Given the description of an element on the screen output the (x, y) to click on. 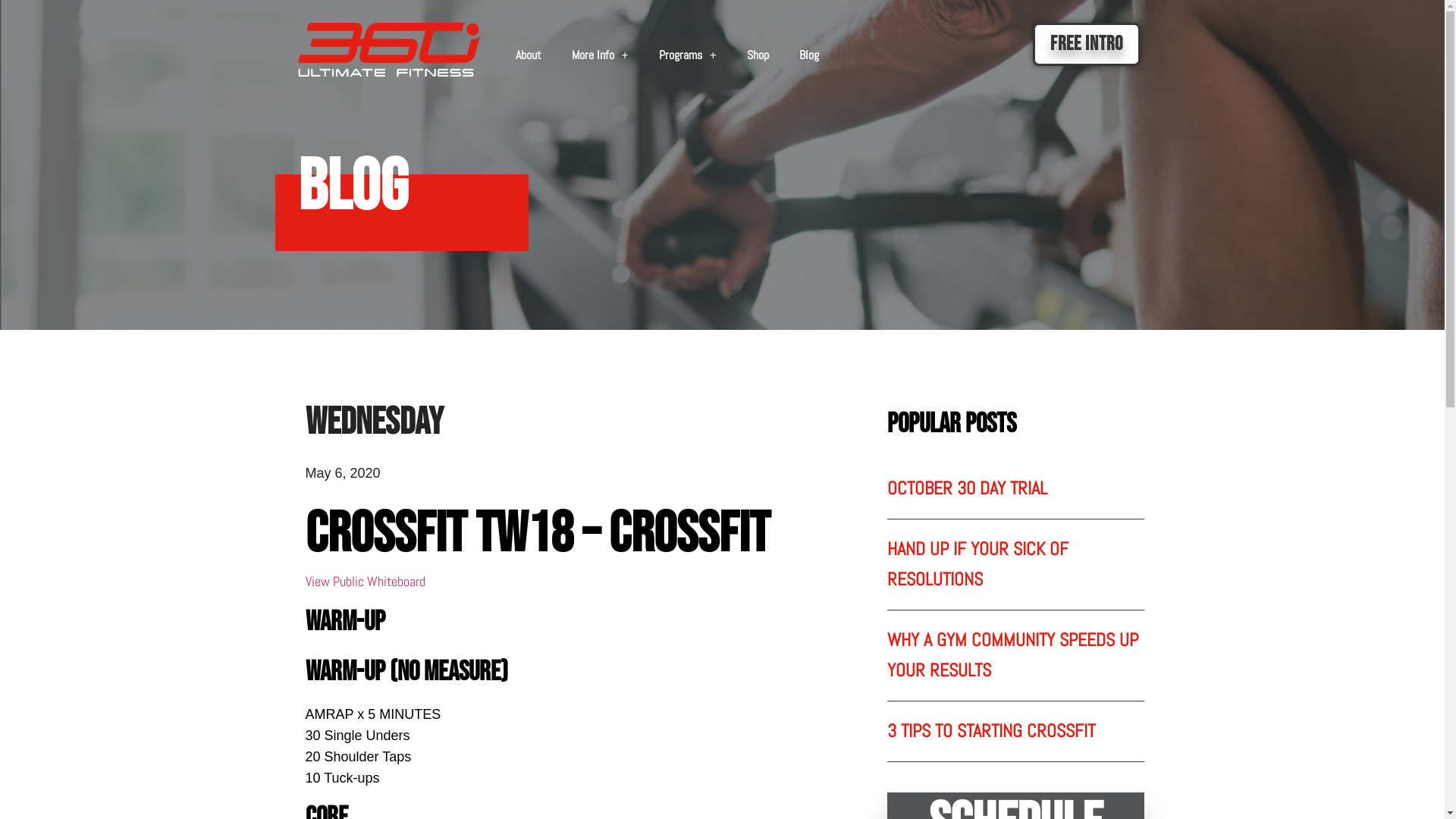
Shop Element type: text (757, 54)
3 TIPS TO STARTING CROSSFIT Element type: text (991, 730)
About Element type: text (528, 54)
Programs Element type: text (687, 54)
WHY A GYM COMMUNITY SPEEDS UP YOUR RESULTS Element type: text (1012, 653)
View Public Whiteboard Element type: text (364, 580)
HAND UP IF YOUR SICK OF RESOLUTIONS Element type: text (977, 562)
More Info Element type: text (599, 54)
OCTOBER 30 DAY TRIAL Element type: text (967, 487)
FREE INTRO Element type: text (1086, 43)
Blog Element type: text (809, 54)
